Given the description of an element on the screen output the (x, y) to click on. 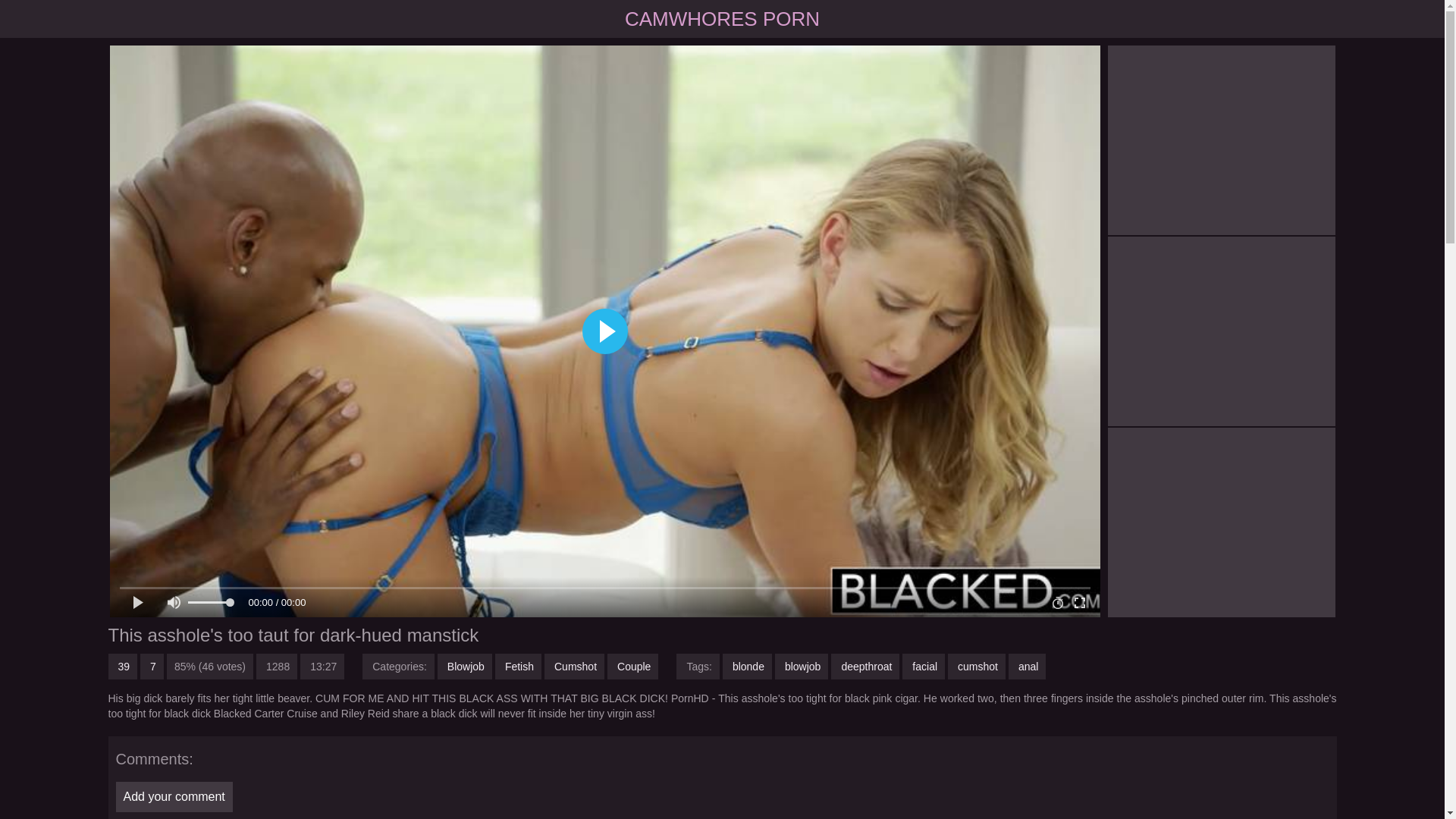
blowjob (801, 666)
CAMWHORES PORN (721, 18)
I Like It! (121, 666)
deepthroat (865, 666)
7 (151, 666)
Don't Like! (151, 666)
blonde (746, 666)
facial (923, 666)
Cumshot (574, 666)
39 (121, 666)
